Given the description of an element on the screen output the (x, y) to click on. 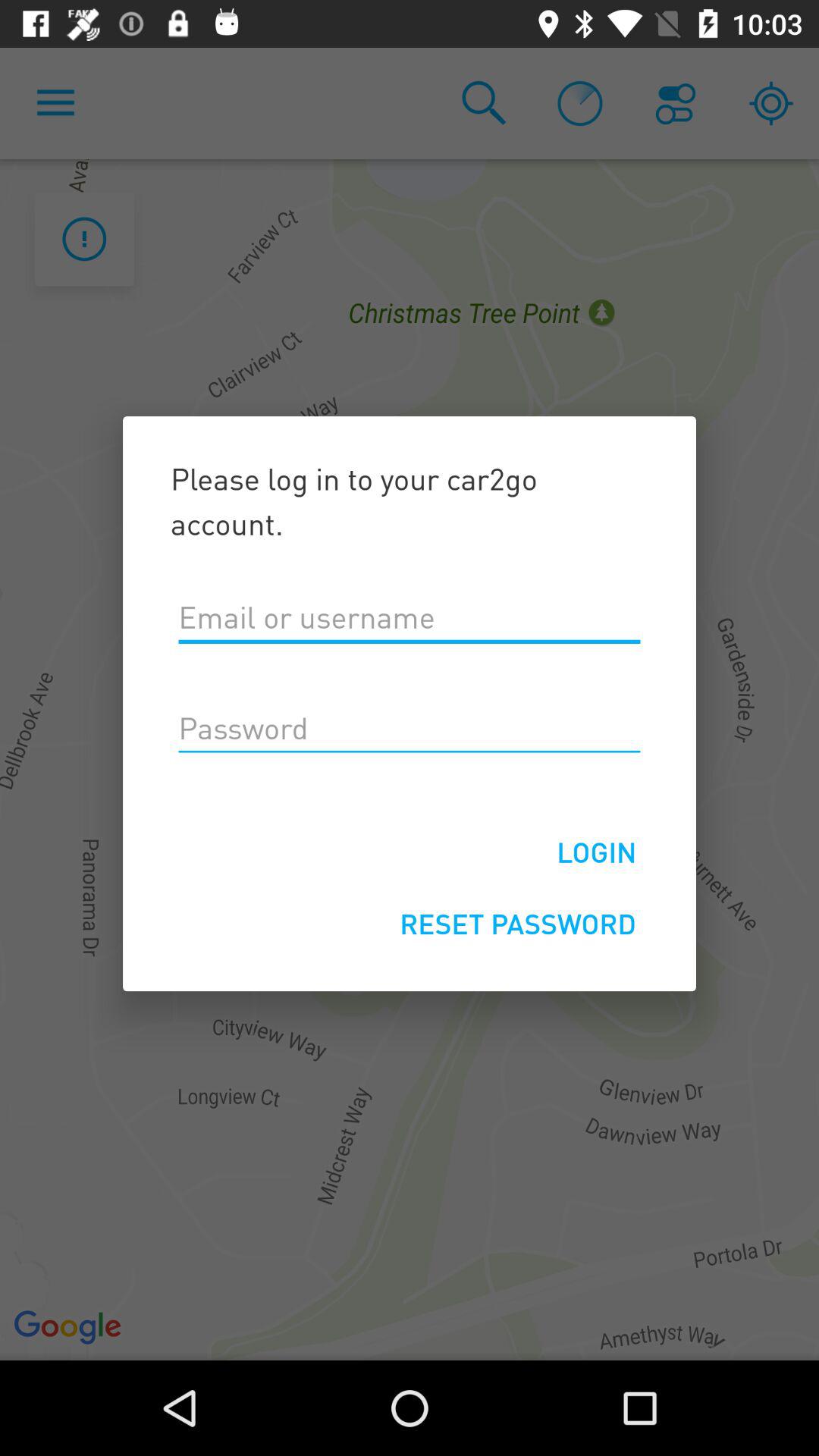
type password (409, 728)
